Given the description of an element on the screen output the (x, y) to click on. 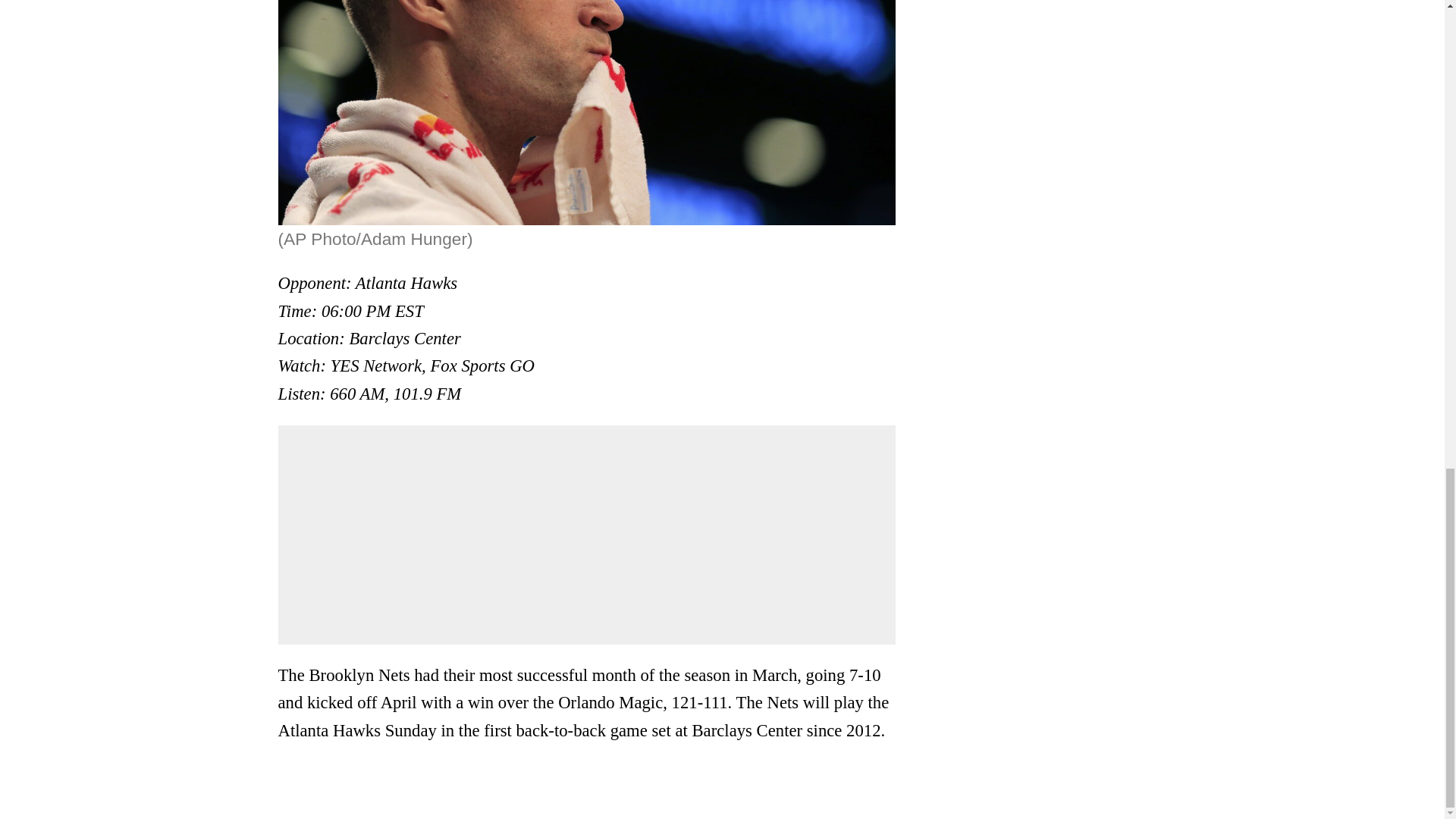
3rd party ad content (586, 534)
